Given the description of an element on the screen output the (x, y) to click on. 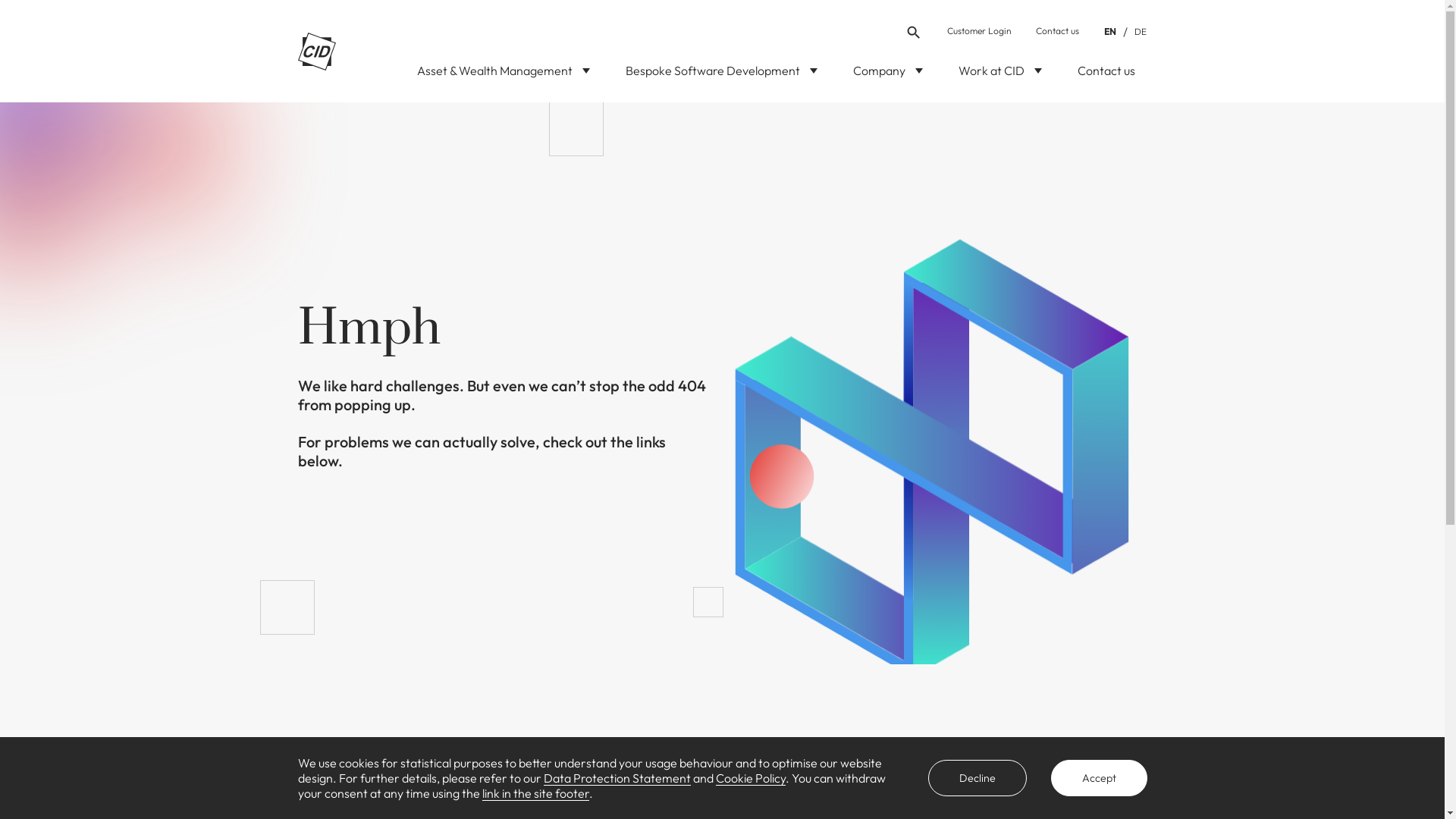
Cookie Policy Element type: text (750, 777)
Contact us Element type: text (1105, 74)
Contact us Element type: text (1057, 30)
Work at CID Element type: text (999, 74)
Toggle nav dropdown Element type: text (1034, 73)
Customer Login Element type: text (978, 30)
Toggle nav dropdown Element type: text (914, 73)
Bespoke Software Development Element type: text (720, 74)
Home Element type: text (768, 756)
EN Element type: text (1109, 31)
link in the site footer Element type: text (535, 792)
Decline Element type: text (977, 777)
Toggle nav dropdown Element type: text (809, 73)
Asset & Wealth Management Element type: text (503, 74)
Company Element type: text (886, 74)
Toggle nav dropdown Element type: text (582, 73)
Data Protection Statement Element type: text (616, 777)
DE Element type: text (1139, 31)
Support Element type: text (773, 783)
Accept Element type: text (1099, 777)
